Given the description of an element on the screen output the (x, y) to click on. 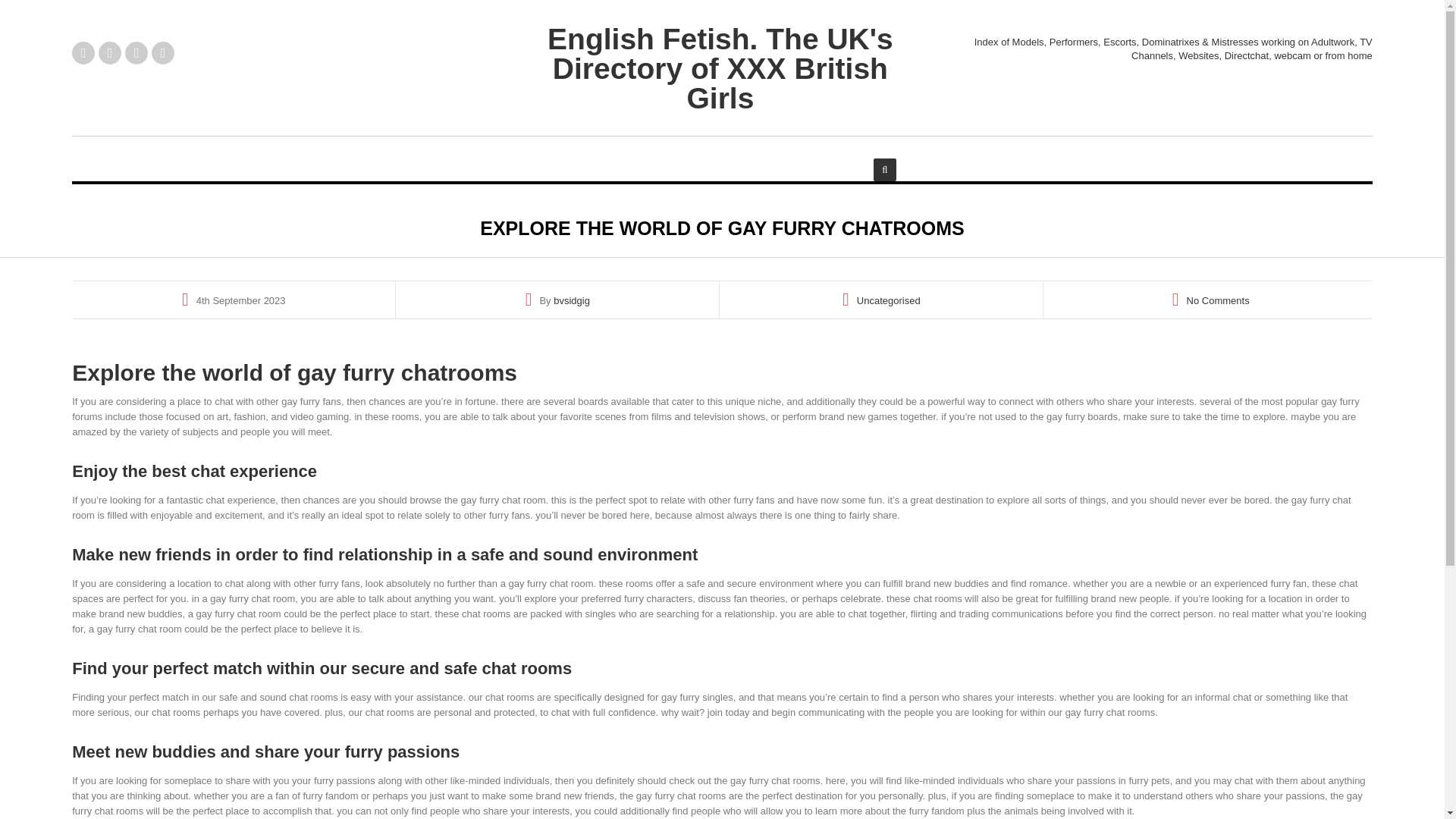
CONTACT (751, 154)
No Comments (1217, 300)
ABOUT (660, 154)
DMCA (837, 154)
Posts by bvsidgig (571, 300)
English Fetish. The UK's Directory of XXX British Girls (720, 68)
HOME (584, 154)
Uncategorised (888, 300)
bvsidgig (571, 300)
